Given the description of an element on the screen output the (x, y) to click on. 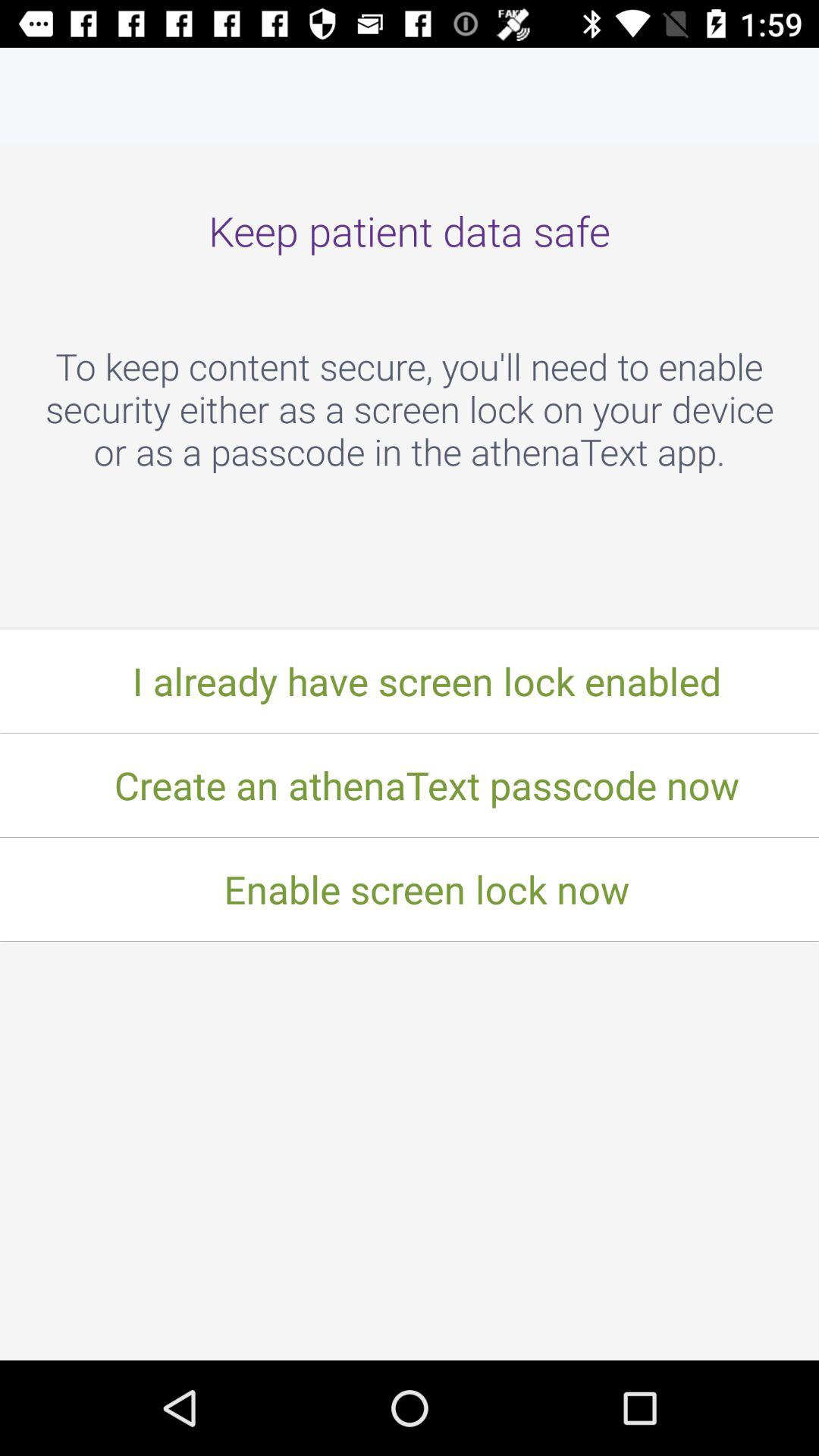
flip until the create an athenatext item (409, 785)
